Given the description of an element on the screen output the (x, y) to click on. 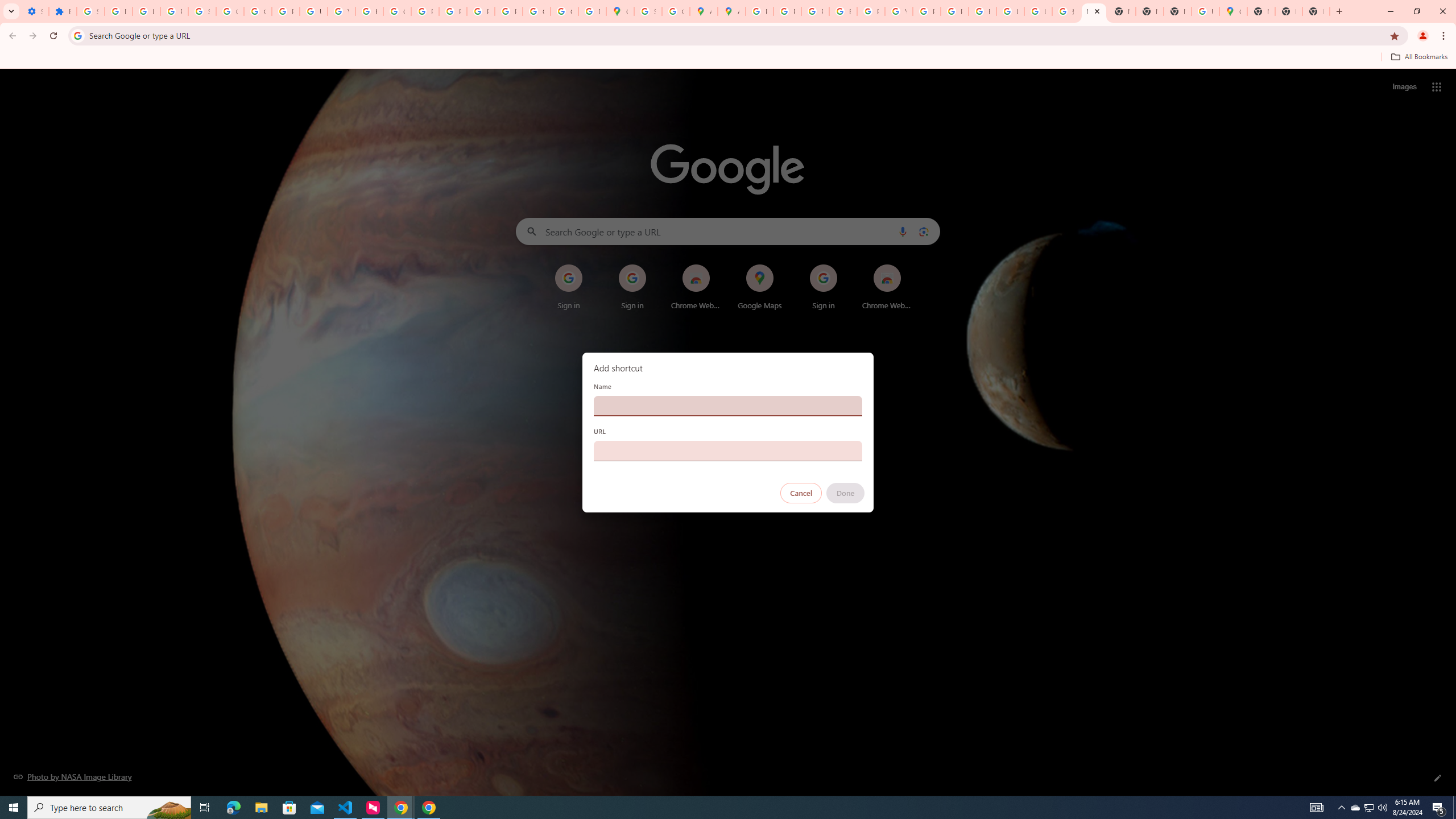
New Tab (1177, 11)
Google Maps (620, 11)
